Given the description of an element on the screen output the (x, y) to click on. 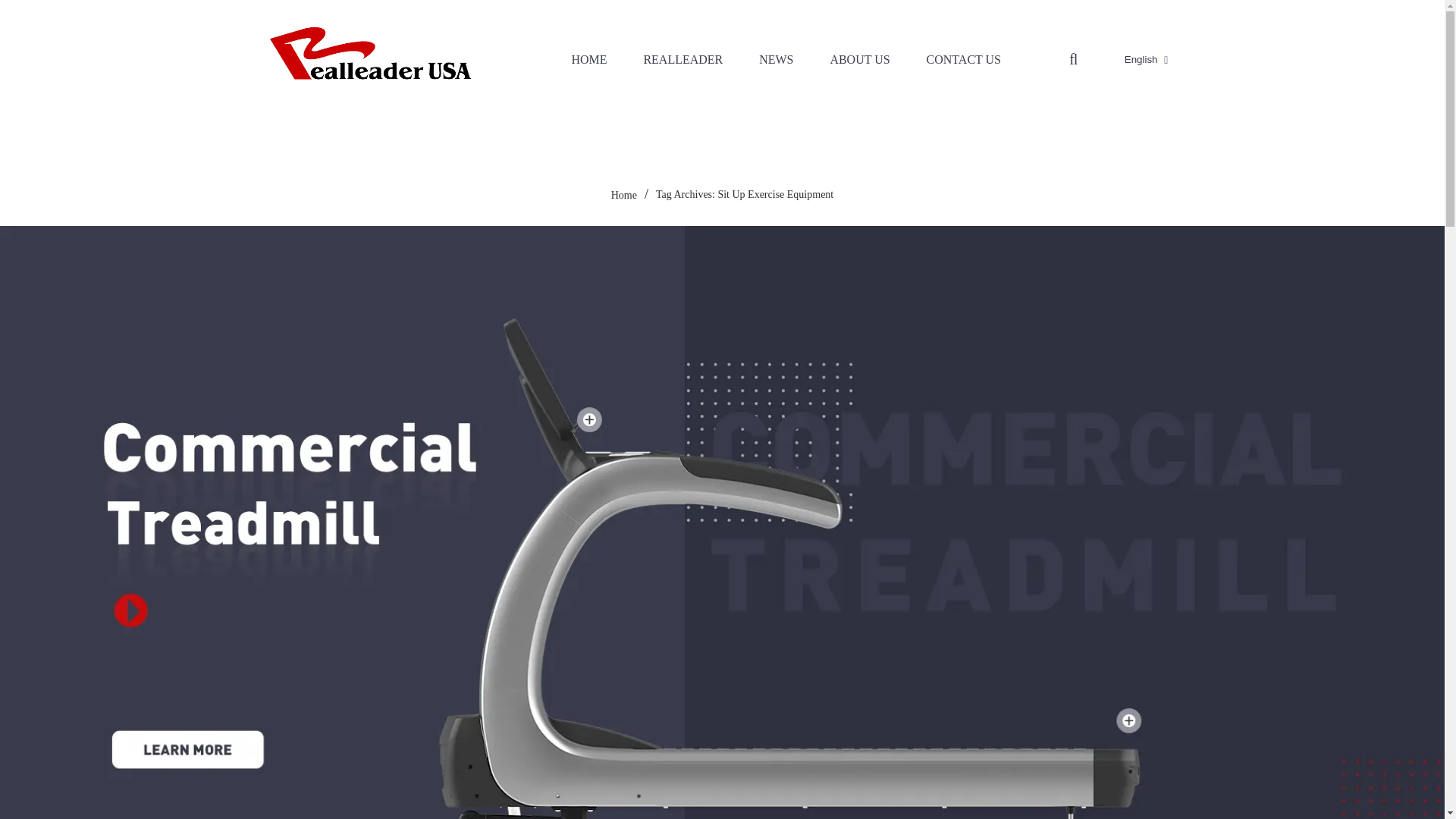
REALLEADER (682, 58)
HOME (588, 58)
Home (624, 194)
CONTACT US (963, 58)
Tag Archives: Sit Up Exercise Equipment (744, 194)
NEWS (775, 58)
ABOUT US (858, 58)
English (1128, 59)
